Given the description of an element on the screen output the (x, y) to click on. 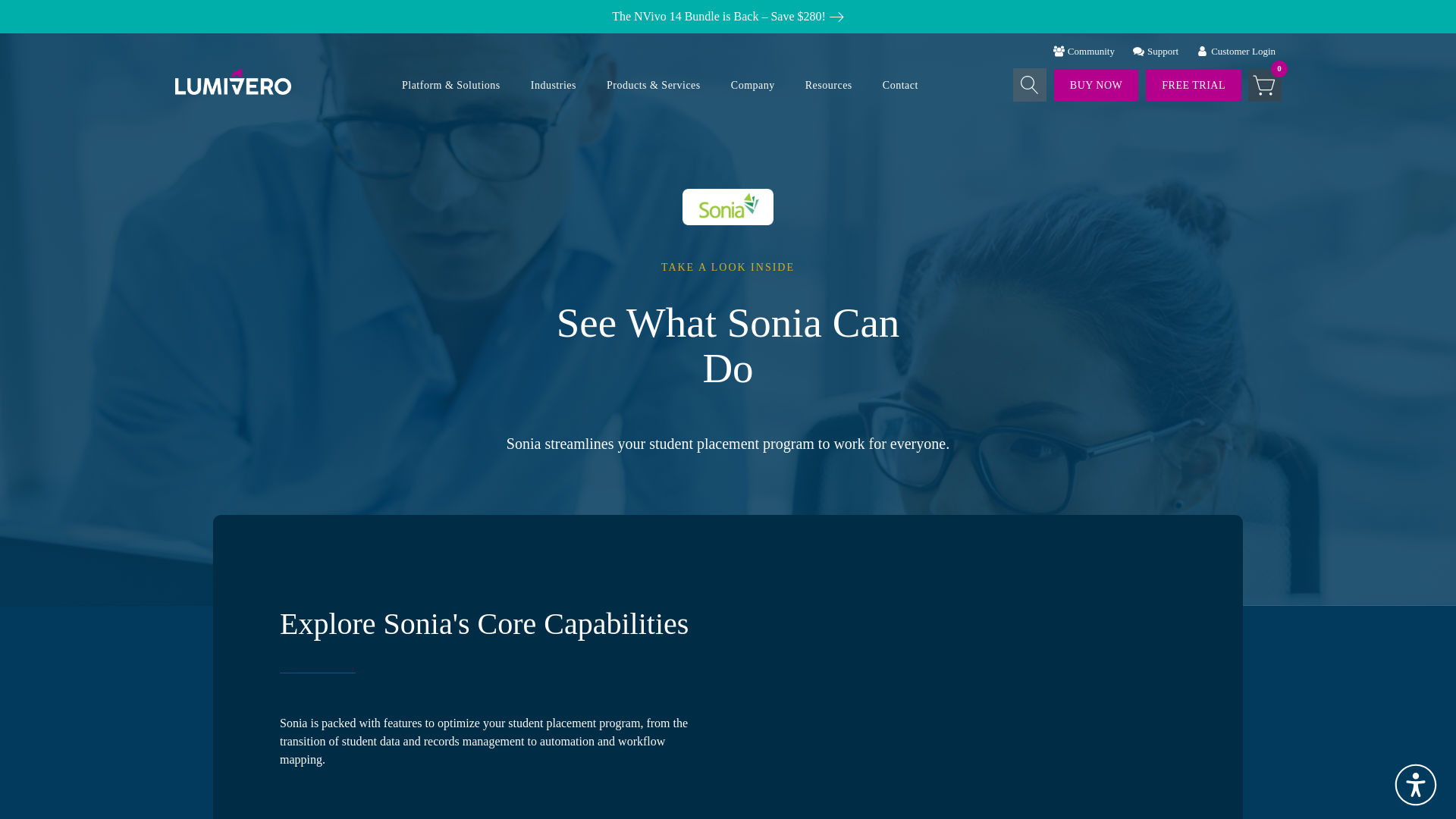
Community (1083, 51)
Customer Login (1236, 51)
Support (1155, 51)
Industries (553, 84)
youtube (959, 689)
Accessibility Menu (1415, 784)
